Given the description of an element on the screen output the (x, y) to click on. 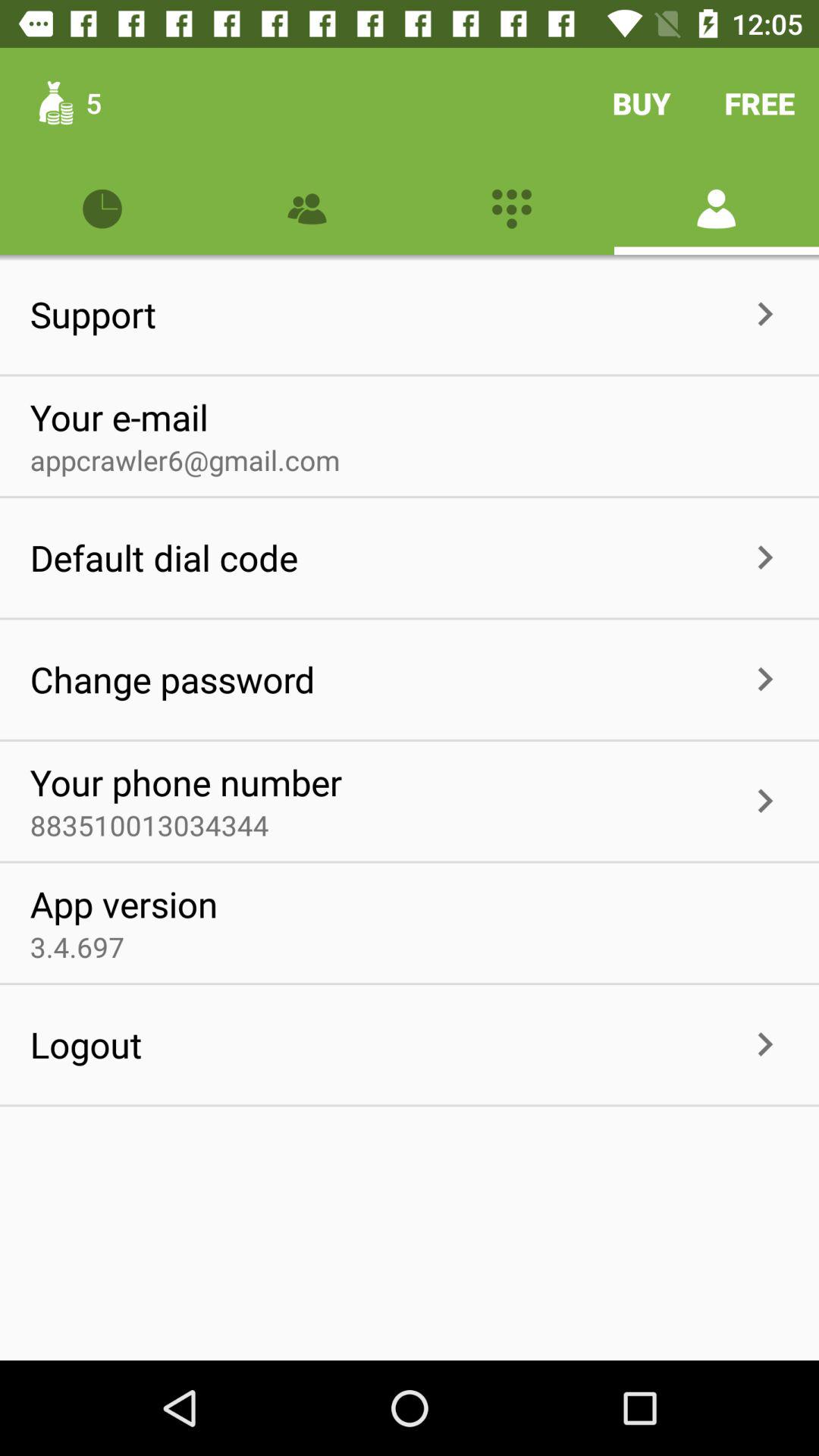
scroll until logout (86, 1044)
